Given the description of an element on the screen output the (x, y) to click on. 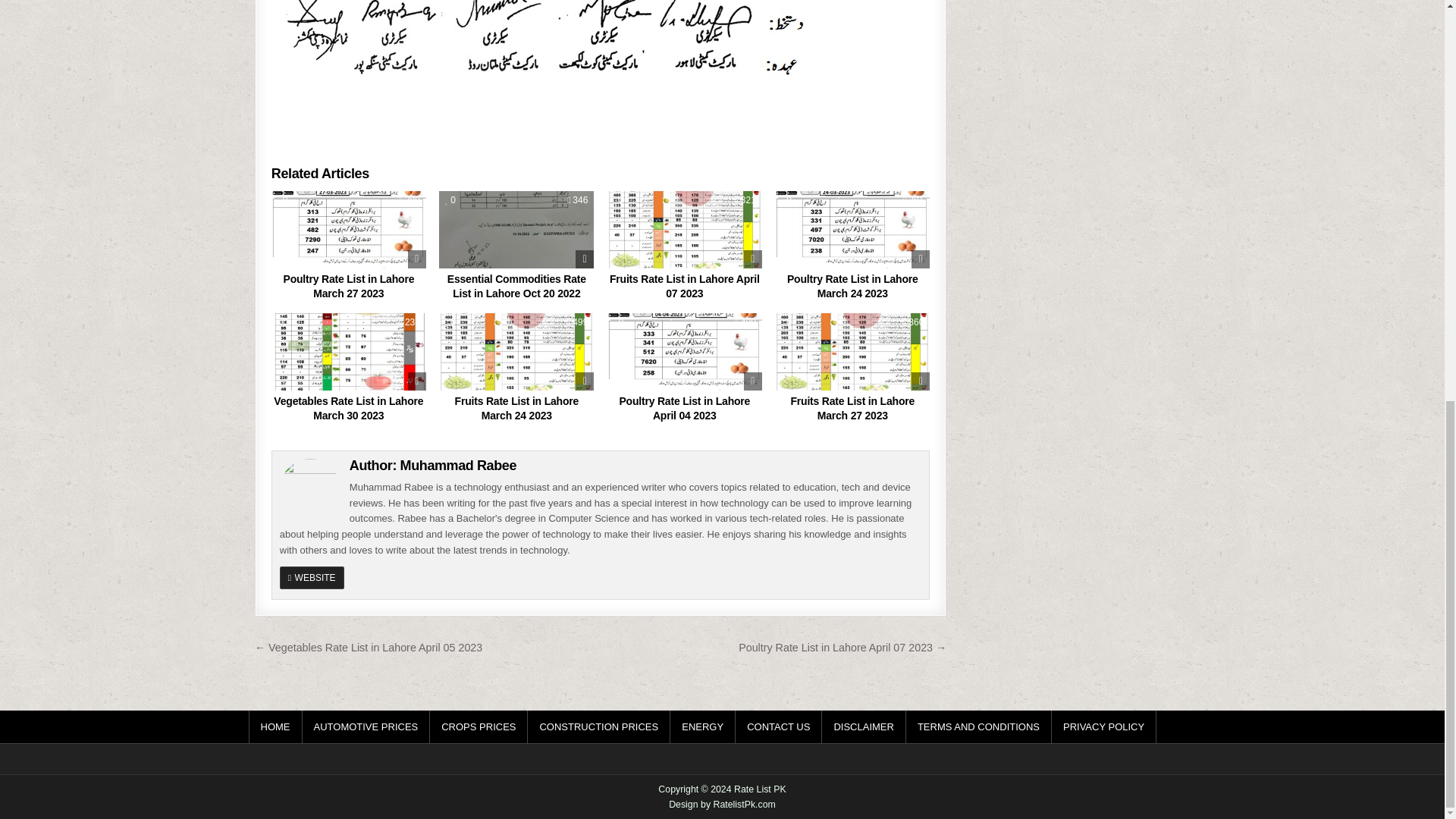
389 Views (408, 199)
Permanent Link to Poultry Rate List in Lahore March 27 2023 (348, 286)
0 (786, 199)
Like this (283, 199)
0 (618, 199)
Permanent Link to Poultry Rate List in Lahore March 27 2023 (348, 229)
Like this (450, 199)
Poultry Rate List in Lahore March 27 2023 (348, 286)
0 (283, 321)
346 Views (577, 199)
0 (283, 199)
Fruits Rate List in Lahore April 07 2023 (685, 286)
0 (450, 199)
Essential Commodities Rate List in Lahore Oct 20 2022 (516, 286)
